Given the description of an element on the screen output the (x, y) to click on. 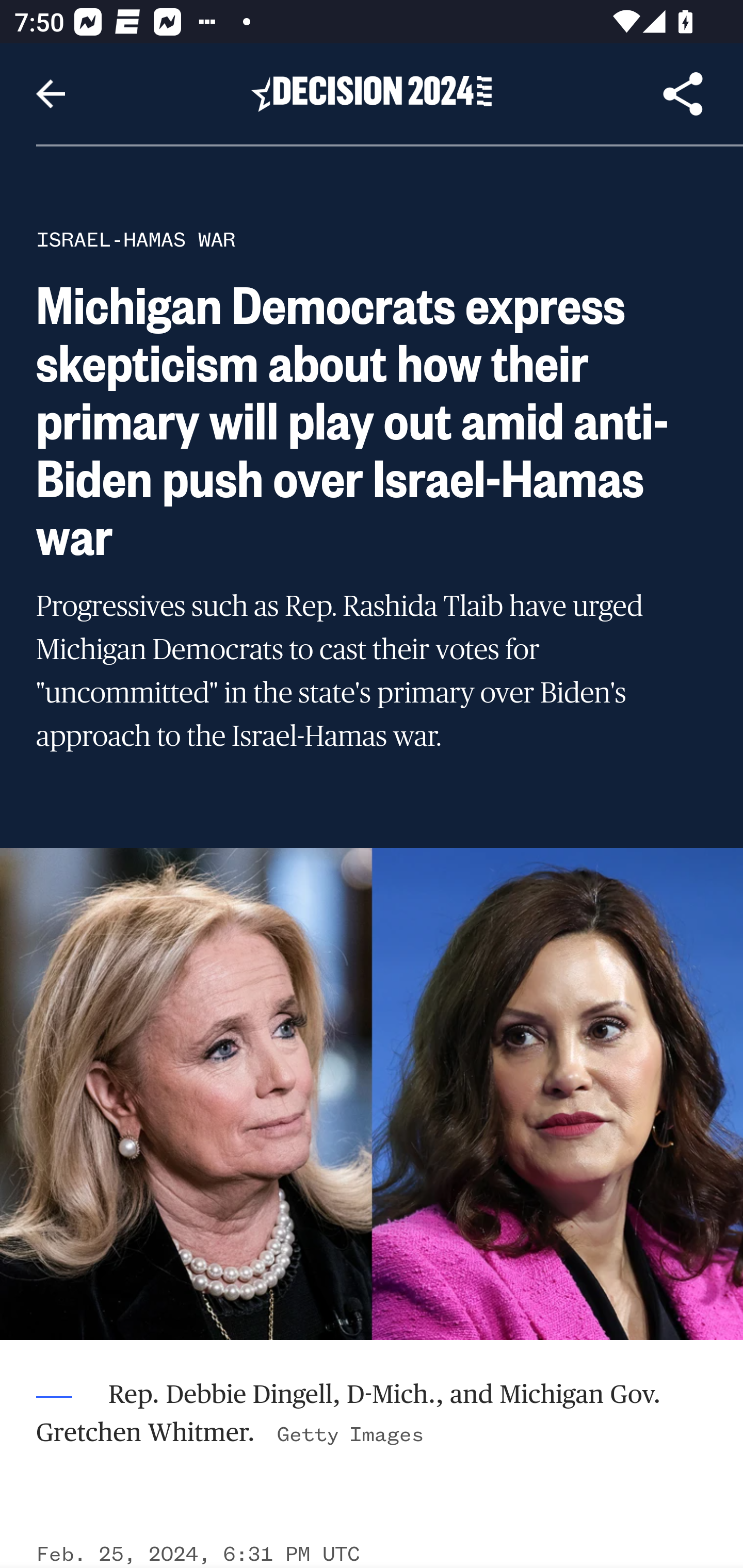
Navigate up (50, 93)
Share Article, button (683, 94)
Header, Decision 2024 (371, 93)
ISRAEL-HAMAS WAR (136, 239)
